Given the description of an element on the screen output the (x, y) to click on. 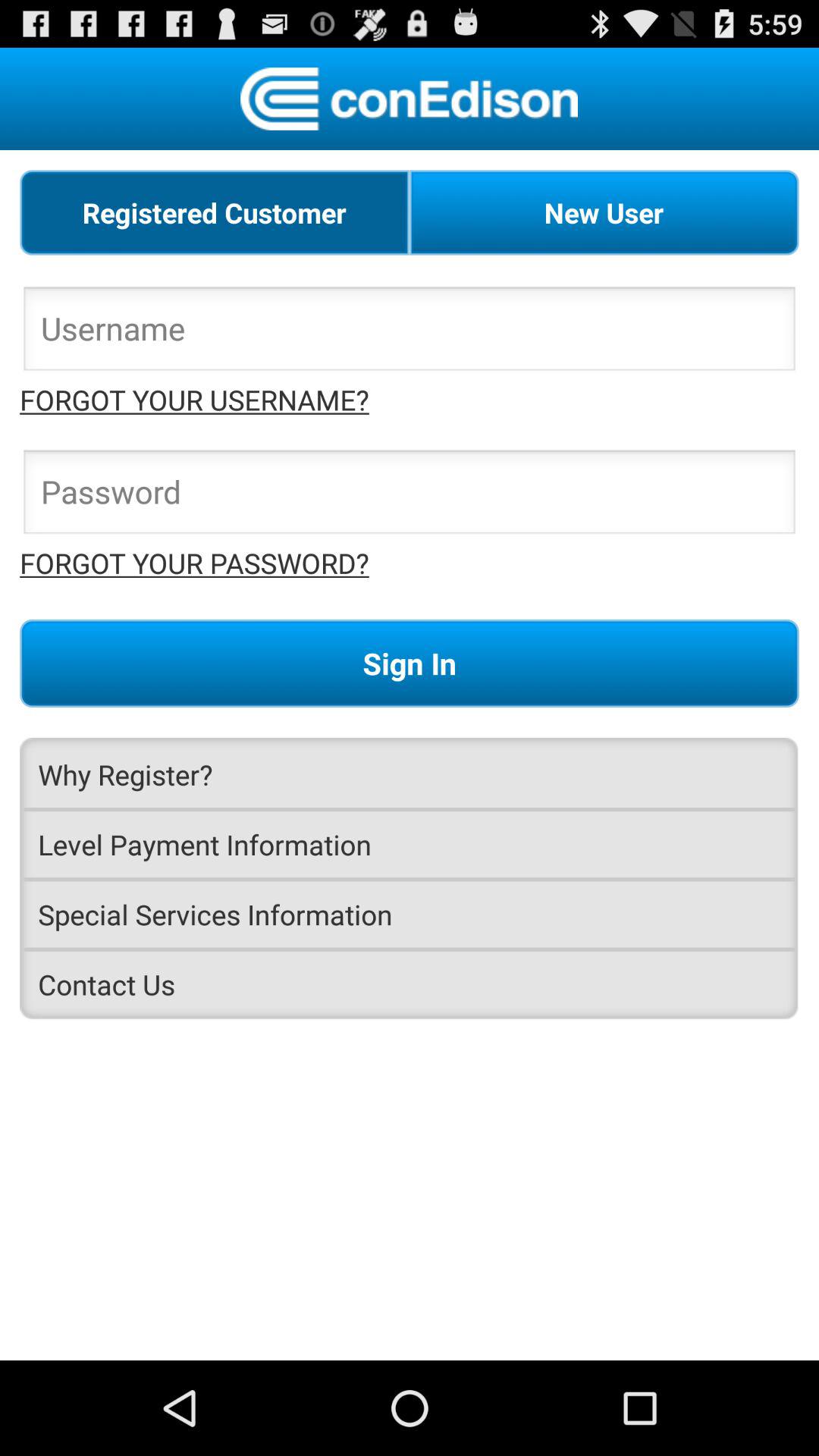
scroll until new user (604, 212)
